Given the description of an element on the screen output the (x, y) to click on. 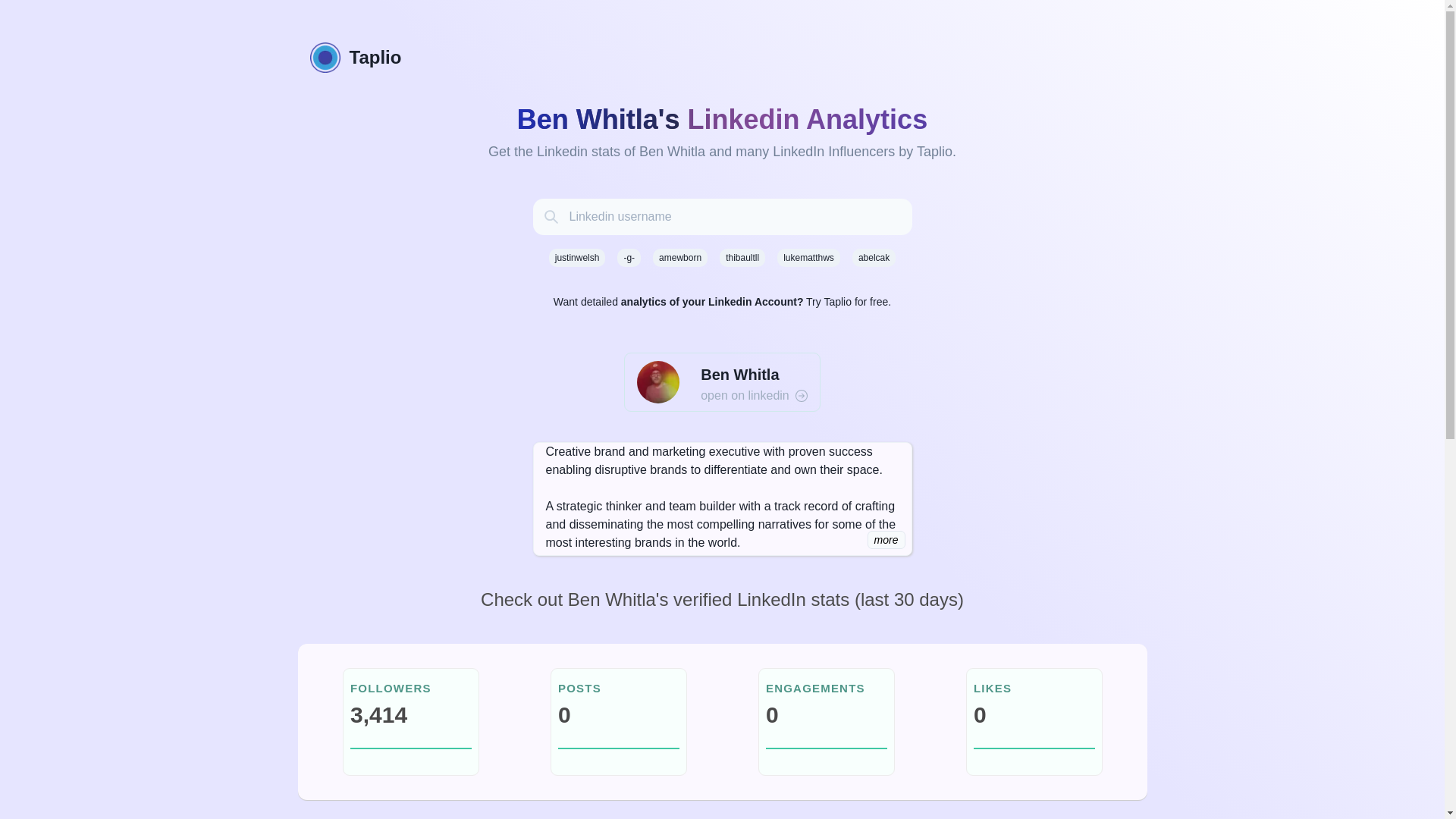
LinkedIn Influencers (834, 151)
amewborn (679, 257)
abelcak (873, 257)
lukematthws (808, 257)
open on linkedin (754, 395)
more (886, 539)
thibaultll (742, 257)
justinwelsh (576, 257)
Taplio (721, 57)
-g- (628, 257)
